Given the description of an element on the screen output the (x, y) to click on. 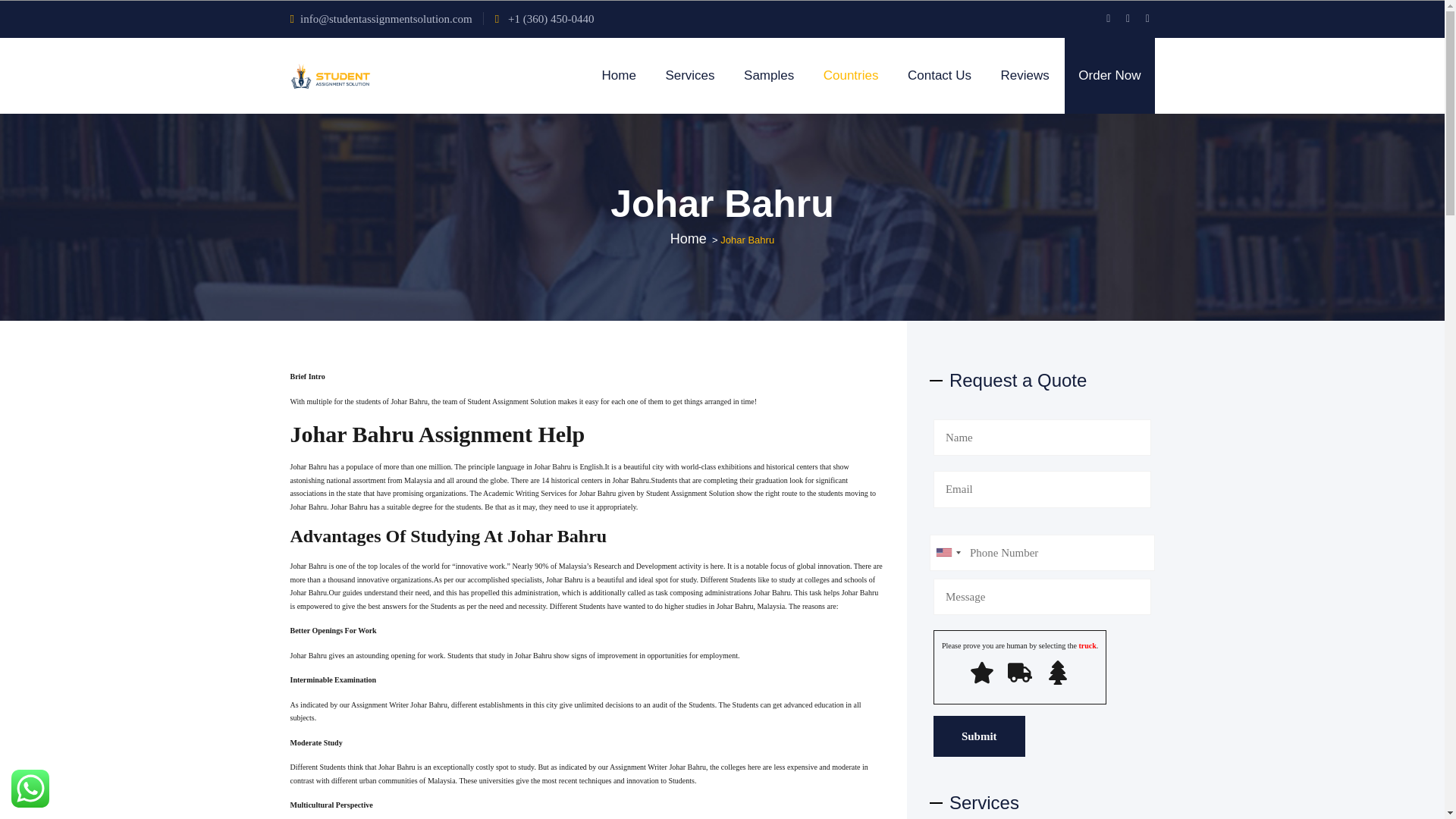
Samples (769, 75)
Home (618, 75)
Submit (979, 735)
Services (689, 75)
Countries (850, 75)
